Given the description of an element on the screen output the (x, y) to click on. 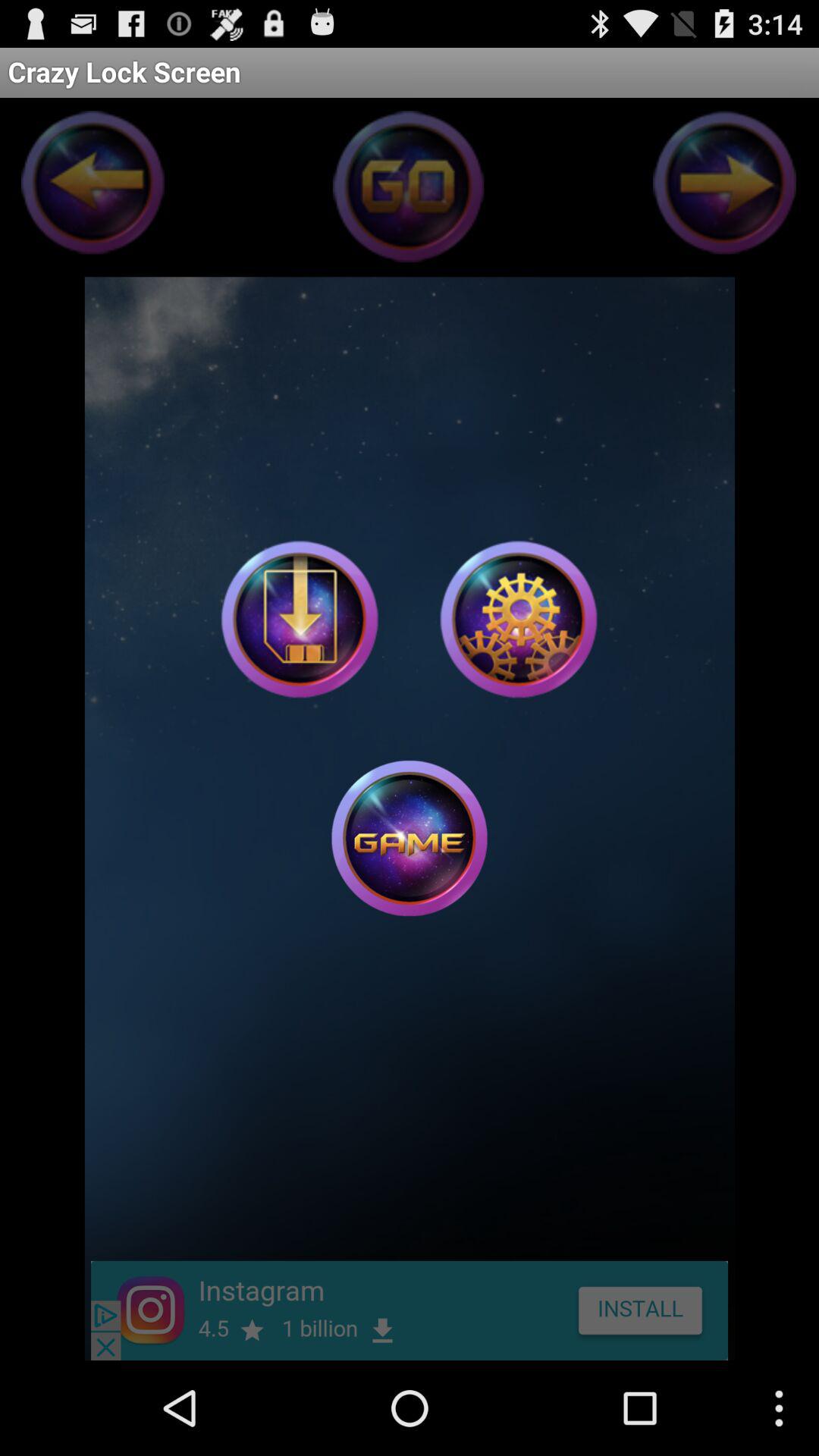
enter game (409, 837)
